Given the description of an element on the screen output the (x, y) to click on. 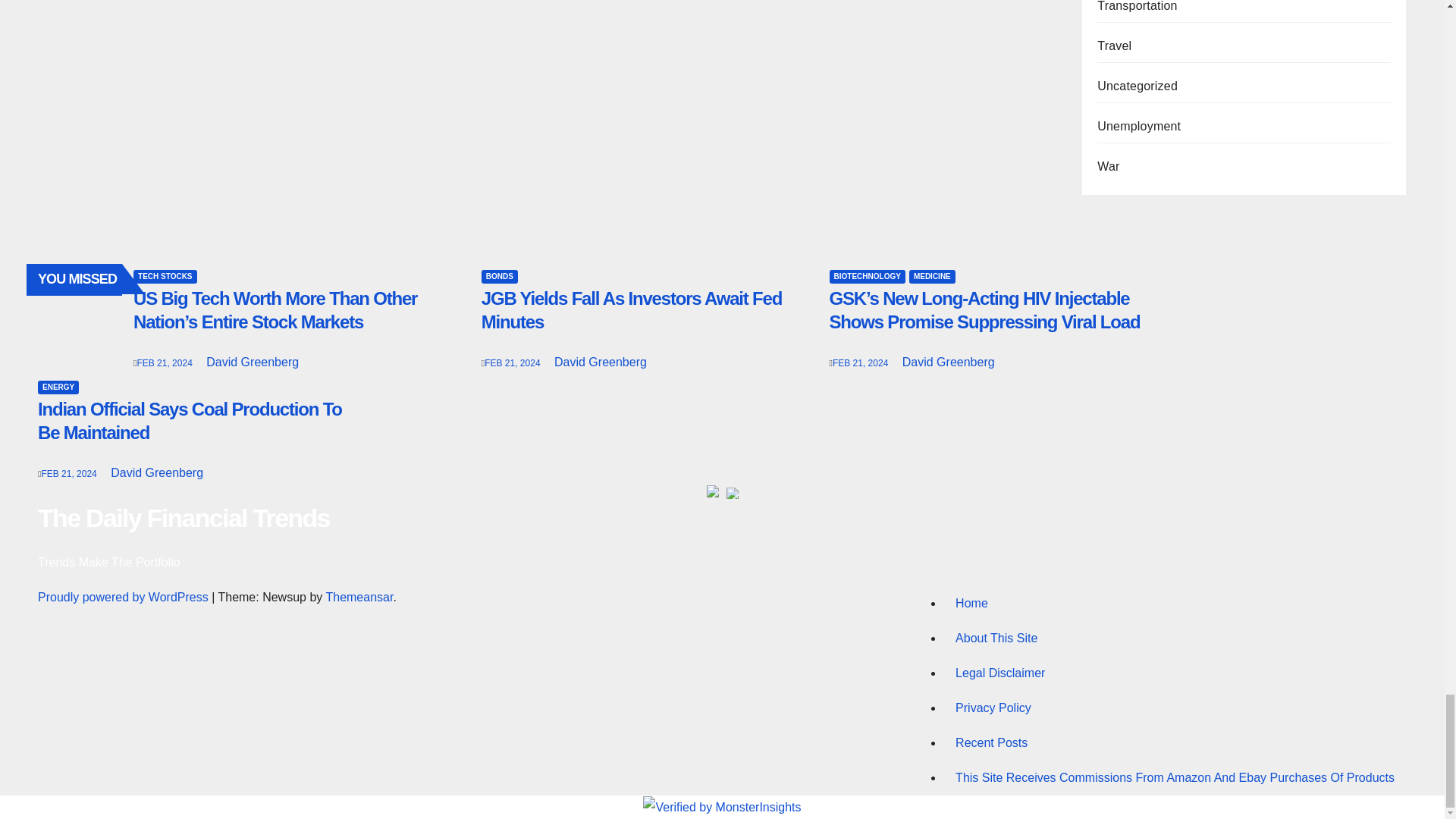
Permalink to: JGB Yields Fall As Investors Await Fed Minutes (631, 310)
Home (1174, 603)
